Given the description of an element on the screen output the (x, y) to click on. 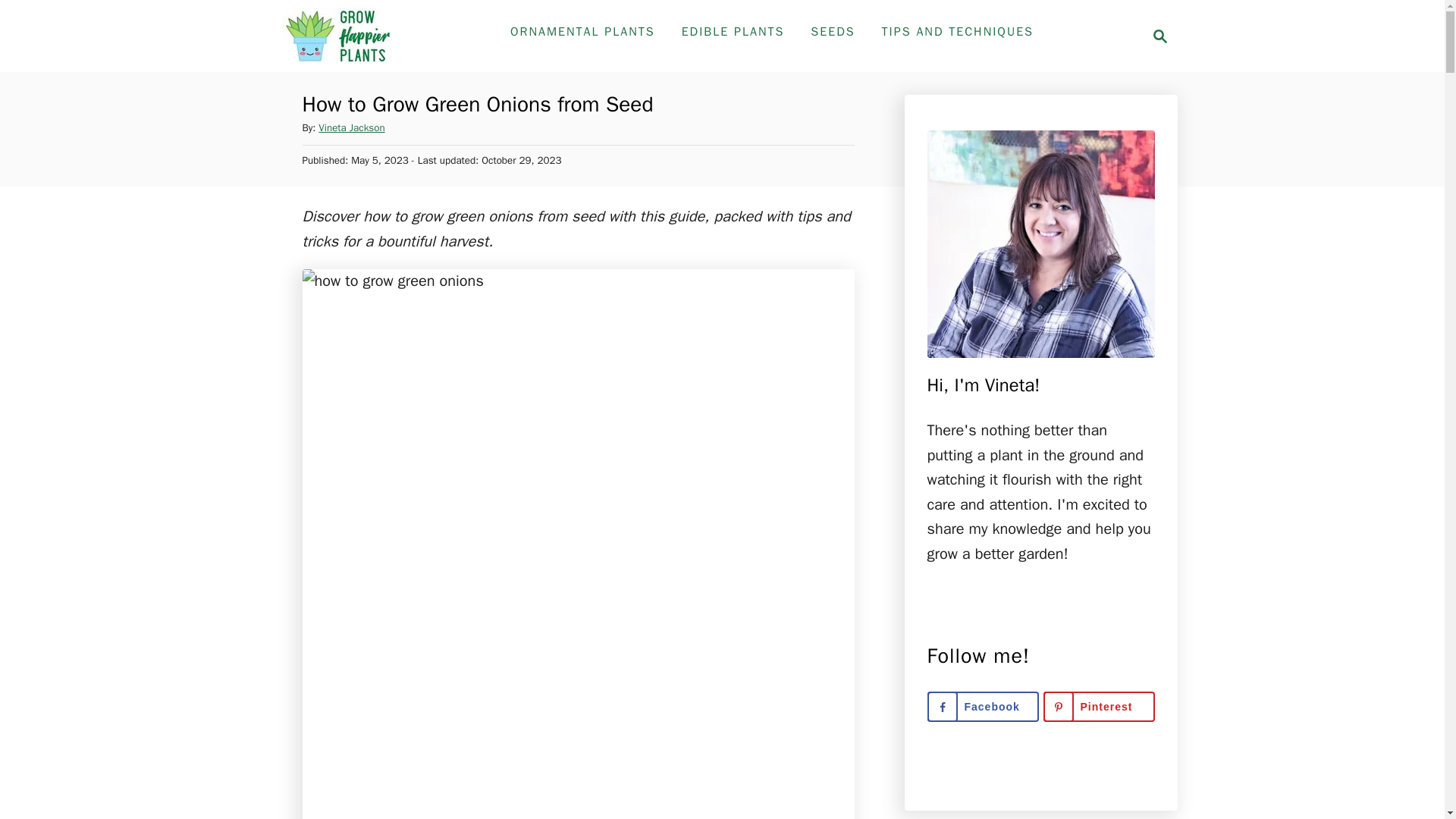
Follow on Facebook (982, 706)
EDIBLE PLANTS (1155, 36)
growhappierplants.com (733, 31)
Magnifying Glass (339, 35)
ORNAMENTAL PLANTS (1160, 36)
SEEDS (582, 31)
Vineta Jackson (832, 31)
Follow on Pinterest (351, 127)
TIPS AND TECHNIQUES (1098, 706)
